Given the description of an element on the screen output the (x, y) to click on. 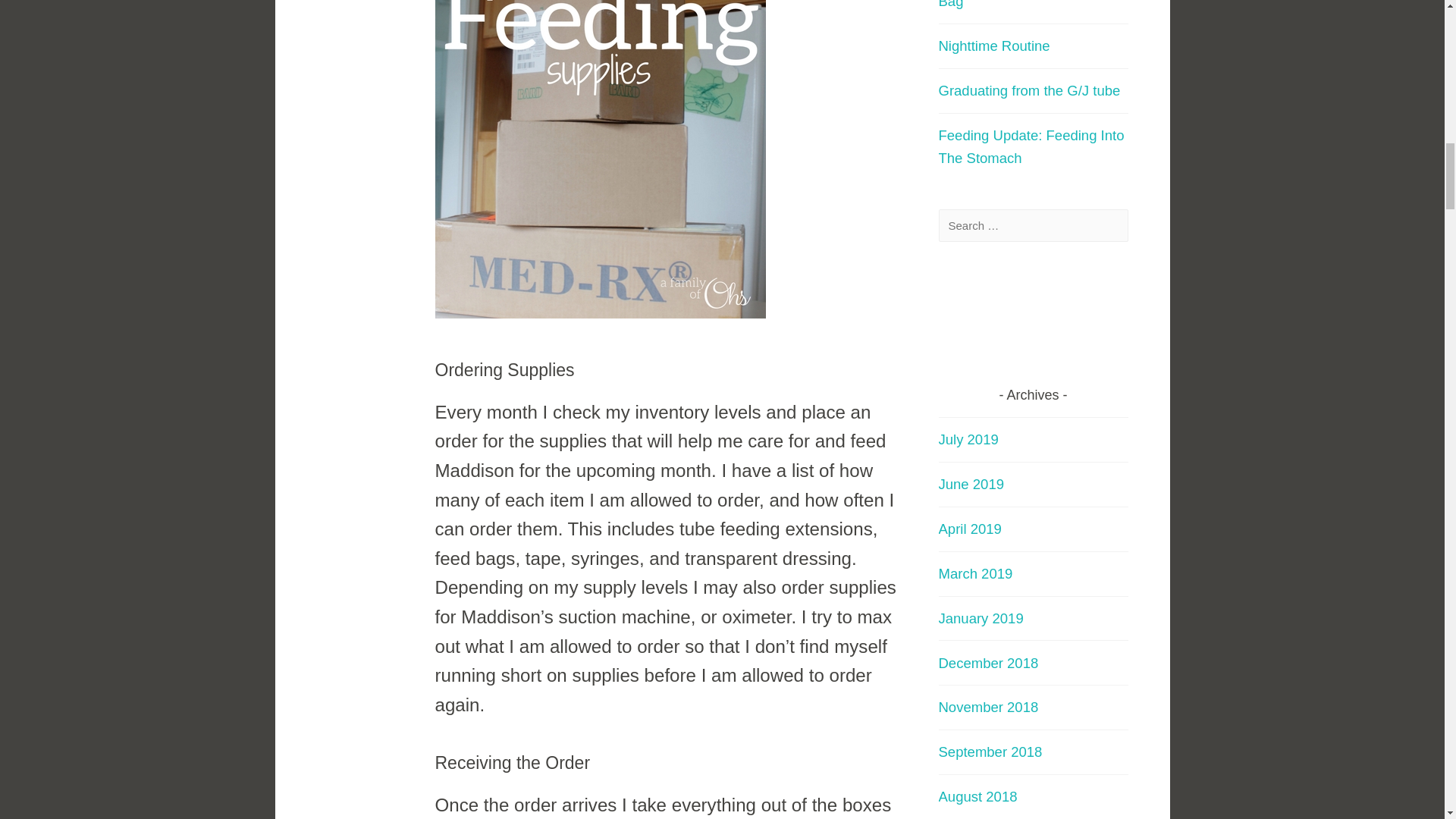
How to Prime Tube Feeding Bag (1026, 4)
Nighttime Routine (994, 45)
Feeding Update: Feeding Into The Stomach (1031, 146)
